Given the description of an element on the screen output the (x, y) to click on. 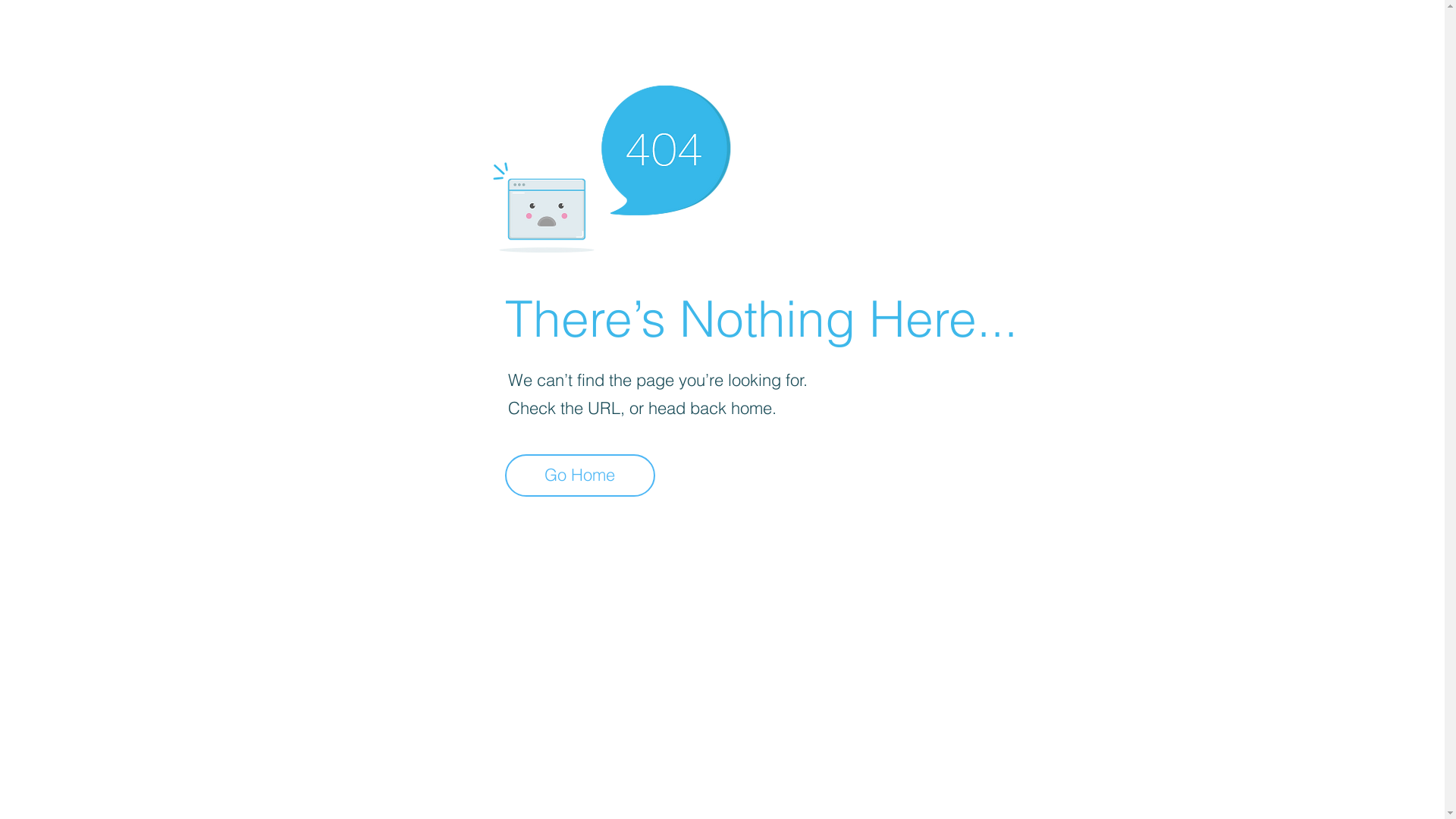
Go Home Element type: text (580, 475)
404-icon_2.png Element type: hover (610, 164)
